Given the description of an element on the screen output the (x, y) to click on. 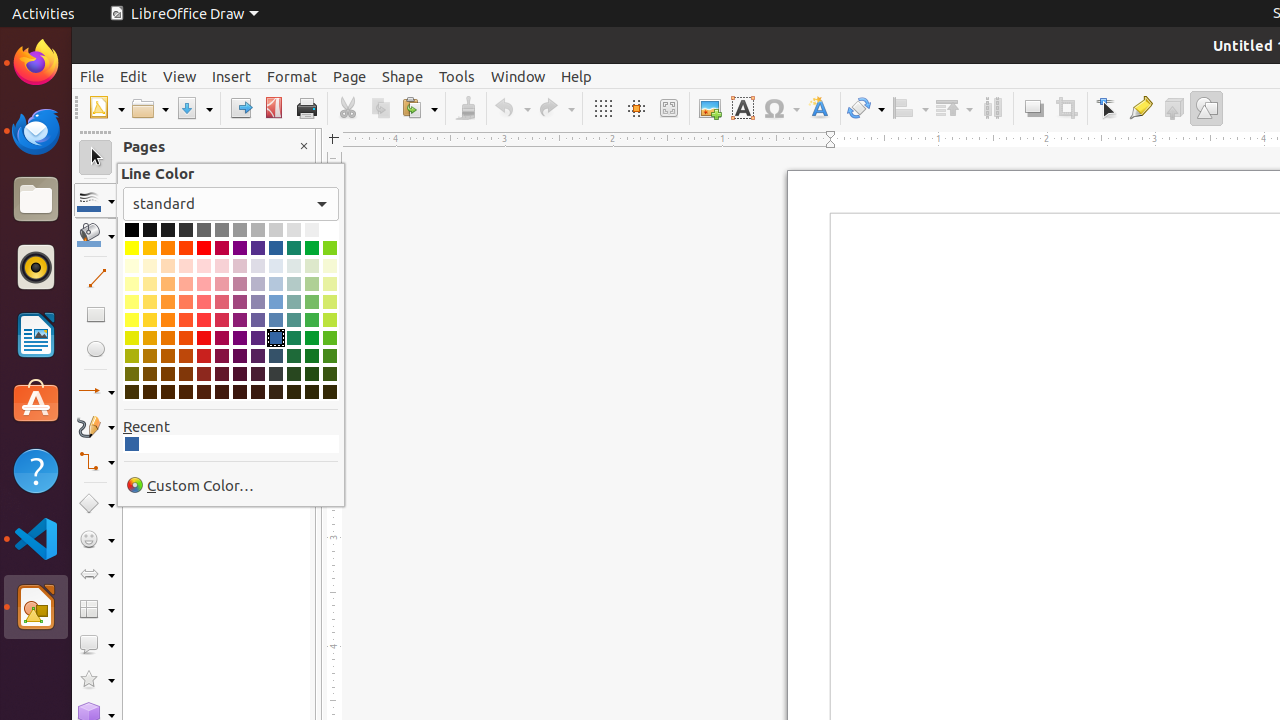
Light Purple 3 Element type: list-item (240, 284)
Ellipse Element type: push-button (95, 348)
Custom Color… Element type: push-button (231, 485)
Arrow Shapes Element type: push-button (96, 574)
Connectors Element type: push-button (96, 461)
